Given the description of an element on the screen output the (x, y) to click on. 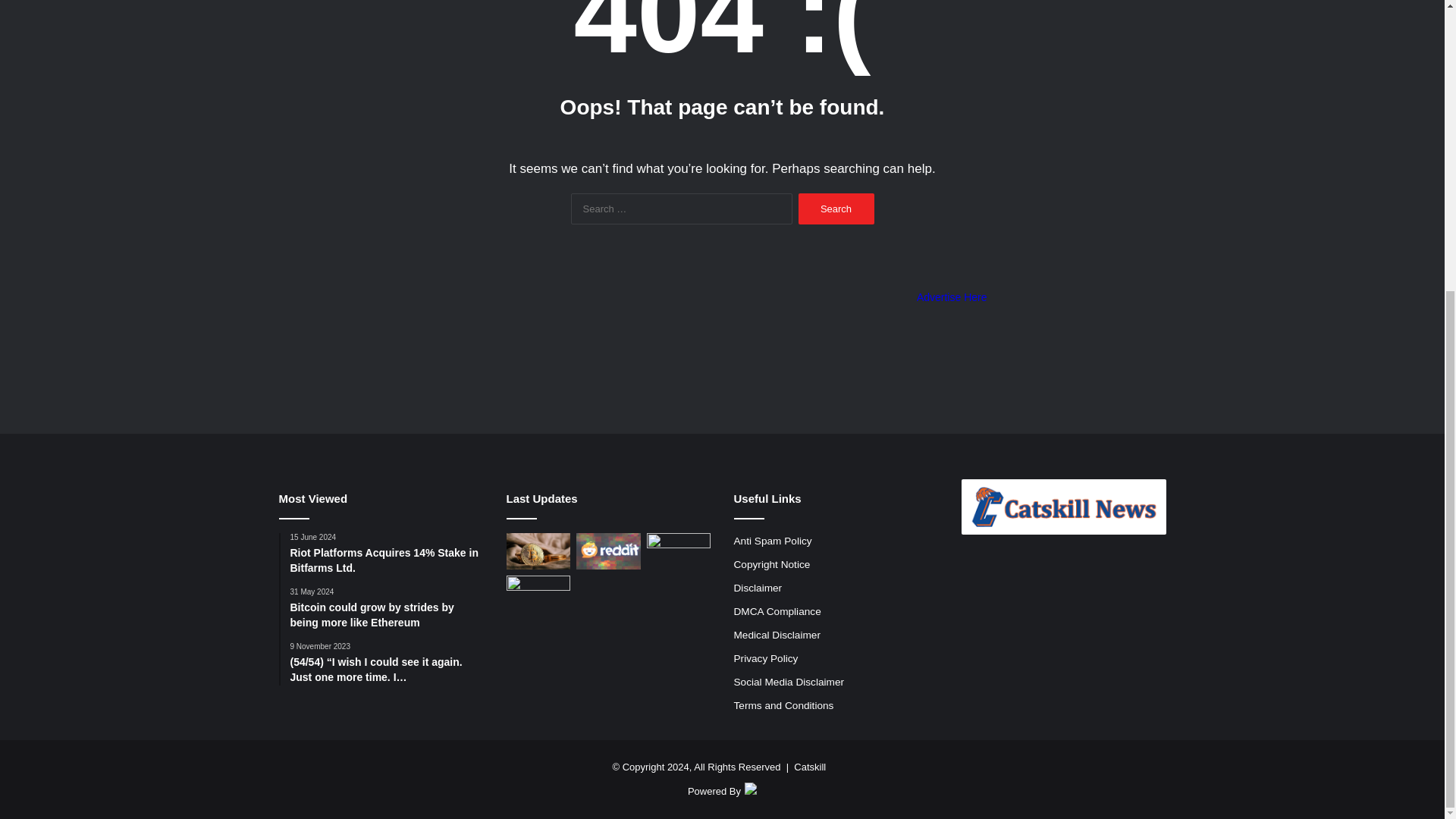
Search (835, 208)
Search (835, 208)
